Given the description of an element on the screen output the (x, y) to click on. 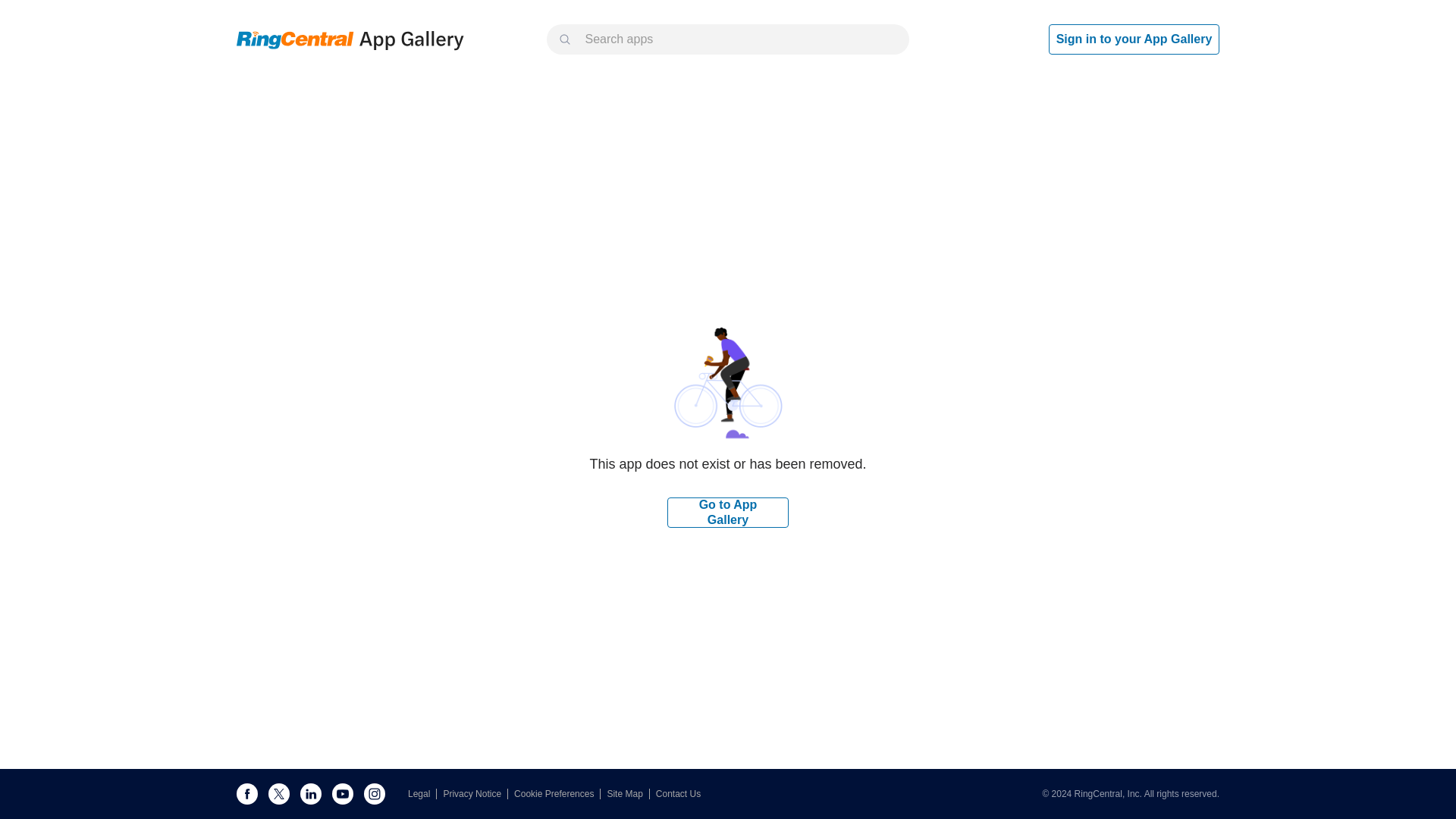
Site Map (628, 793)
Contact Us (678, 793)
Sign in to your App Gallery (1134, 39)
Privacy Notice (475, 793)
Cookie Preferences (556, 793)
Legal (421, 793)
Go to App Gallery (727, 511)
Go to App Gallery (727, 512)
